Given the description of an element on the screen output the (x, y) to click on. 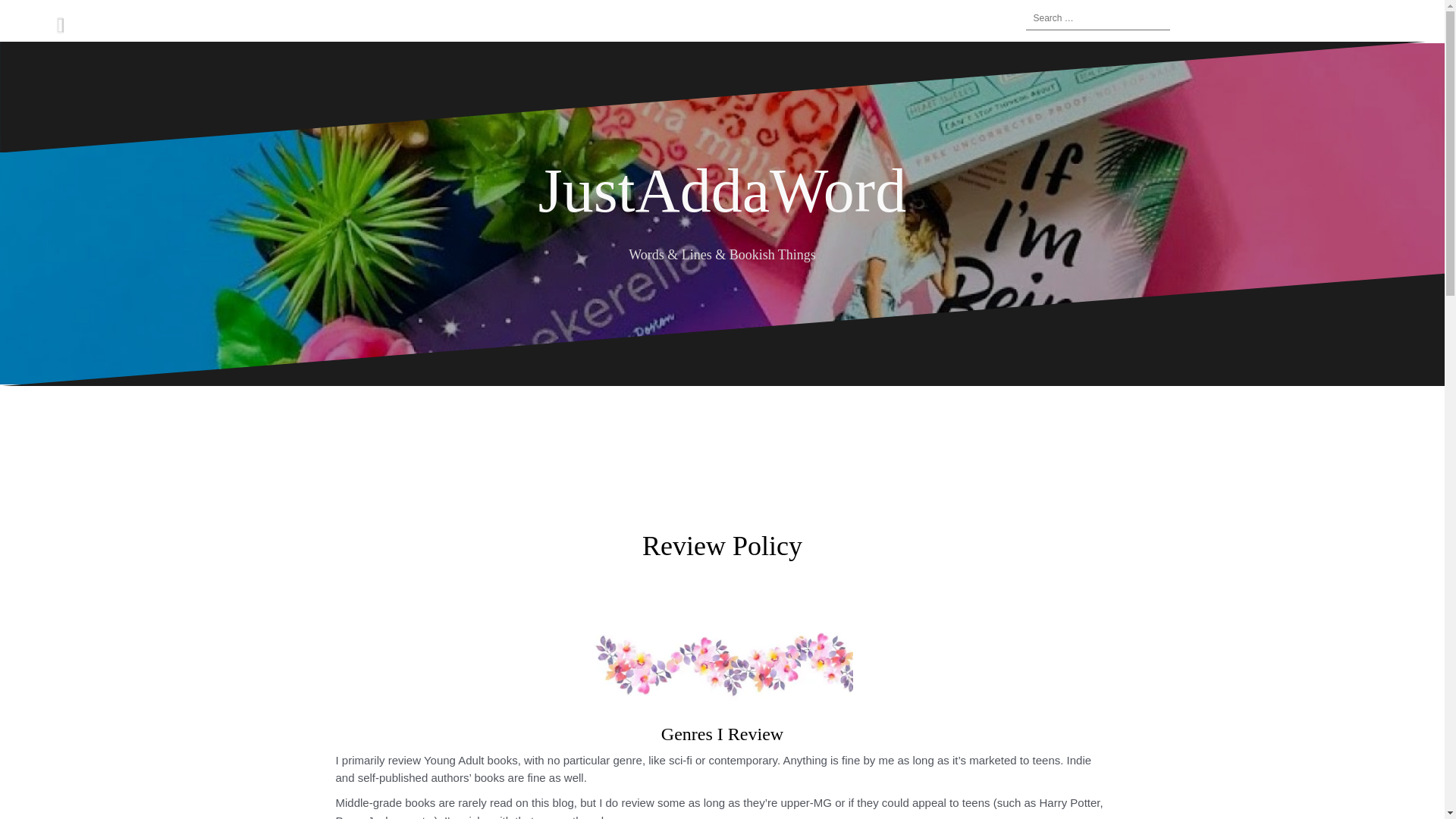
Search (30, 20)
JustAddaWord (721, 190)
